Given the description of an element on the screen output the (x, y) to click on. 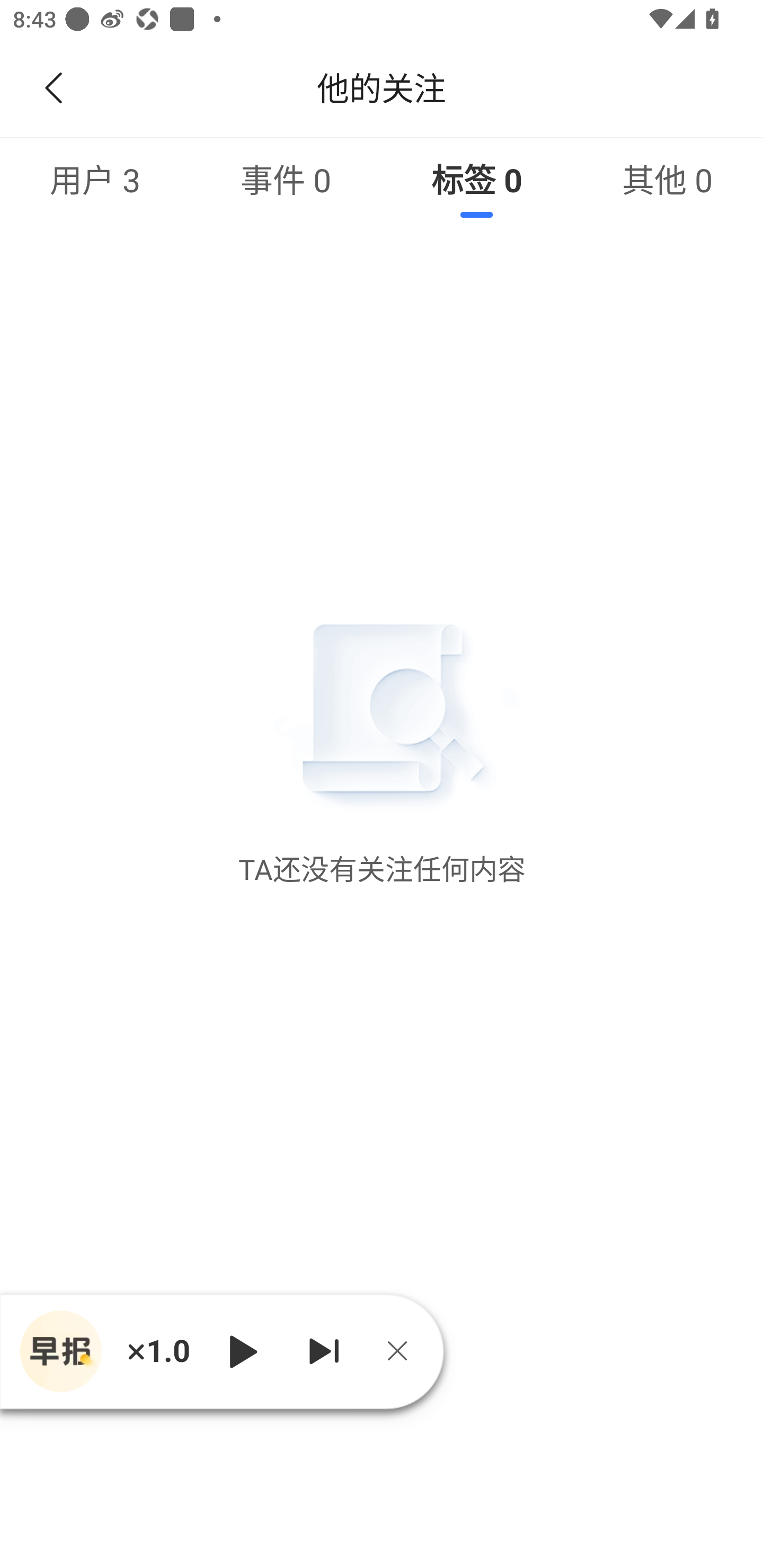
返回，可点击 (49, 87)
用户&nbsp;3，可选中 (95, 179)
事件&nbsp;0，可选中 (285, 179)
已选中标签&nbsp;0 (476, 179)
其他&nbsp;0，可选中 (667, 179)
 播放 (242, 1351)
 下一个 (323, 1351)
 关闭 (404, 1350)
播放器 (60, 1351)
 1.0 (157, 1351)
